Given the description of an element on the screen output the (x, y) to click on. 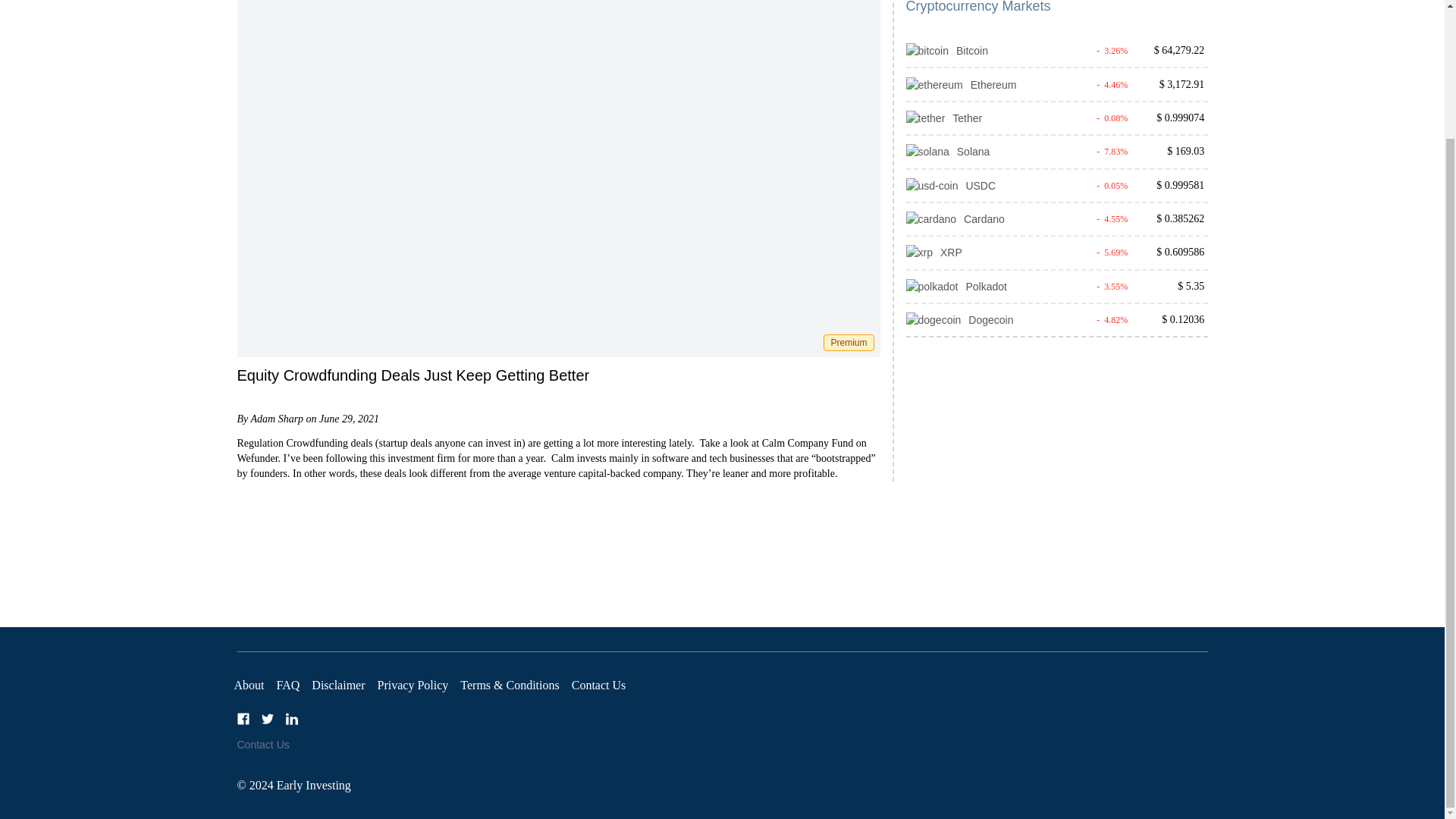
About (247, 684)
Equity Crowdfunding Deals Just Keep Getting Better (412, 375)
FAQ (287, 684)
Disclaimer (338, 684)
Privacy Policy (412, 684)
